Given the description of an element on the screen output the (x, y) to click on. 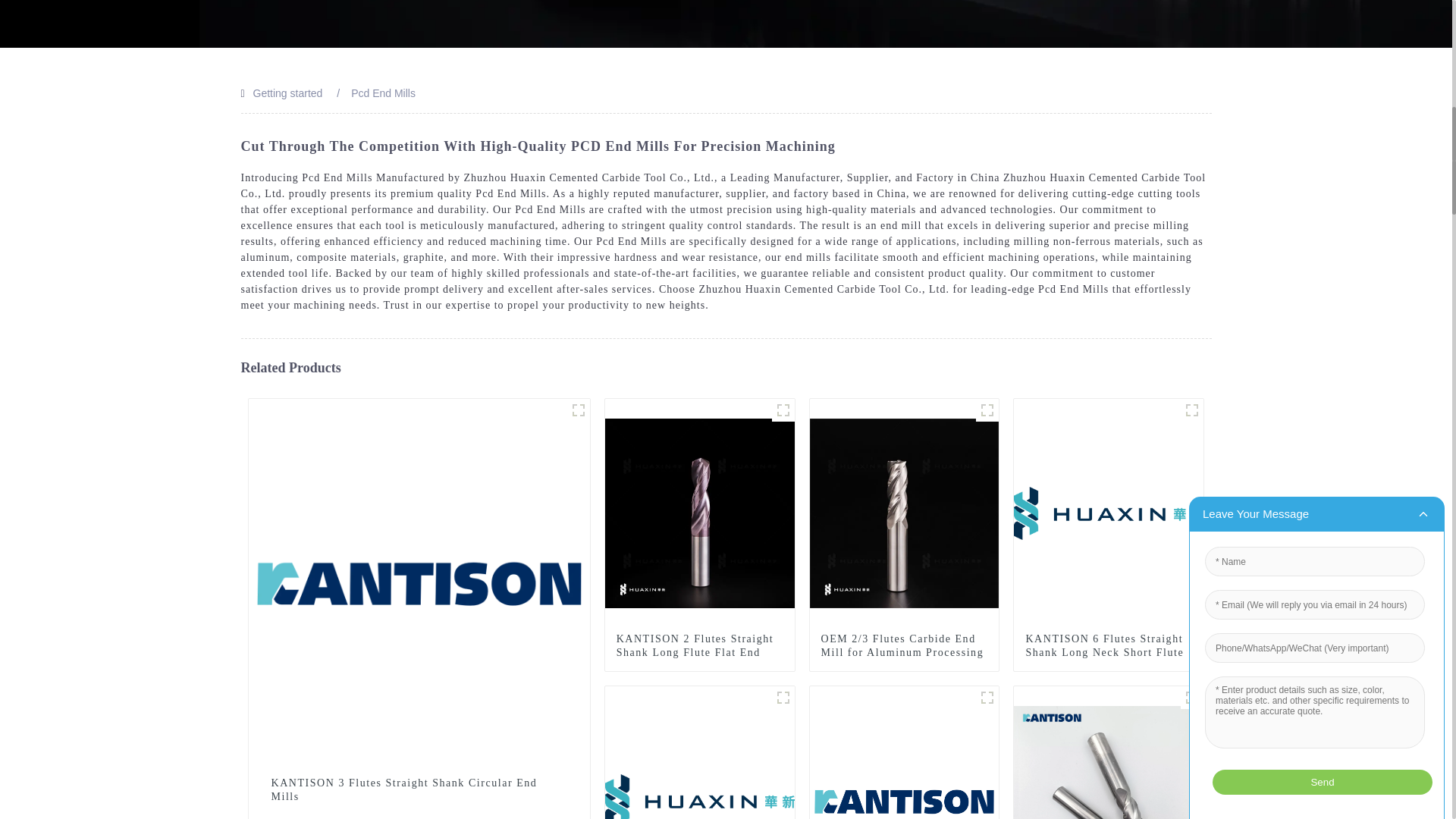
KANTISON (986, 697)
KANTISON 3 Flutes Straight Shank Circular End Mills (418, 789)
logo (782, 697)
KANTISON 3 Flutes Straight Shank Circular End Mills (418, 580)
KANTISON 3 Flutes Straight Shank Circular End Mills (418, 789)
KANTISON (578, 409)
KANTISON 2 Flutes Straight Shank Long Flute Flat End Mills (699, 652)
Aluminum Processing Straight Shank Flat End mills2 (986, 409)
KANTISON 2 Flutes Straight Shank Long Flute Flat End Mills (699, 512)
Pcd End Mills (382, 92)
logo (1192, 409)
